Given the description of an element on the screen output the (x, y) to click on. 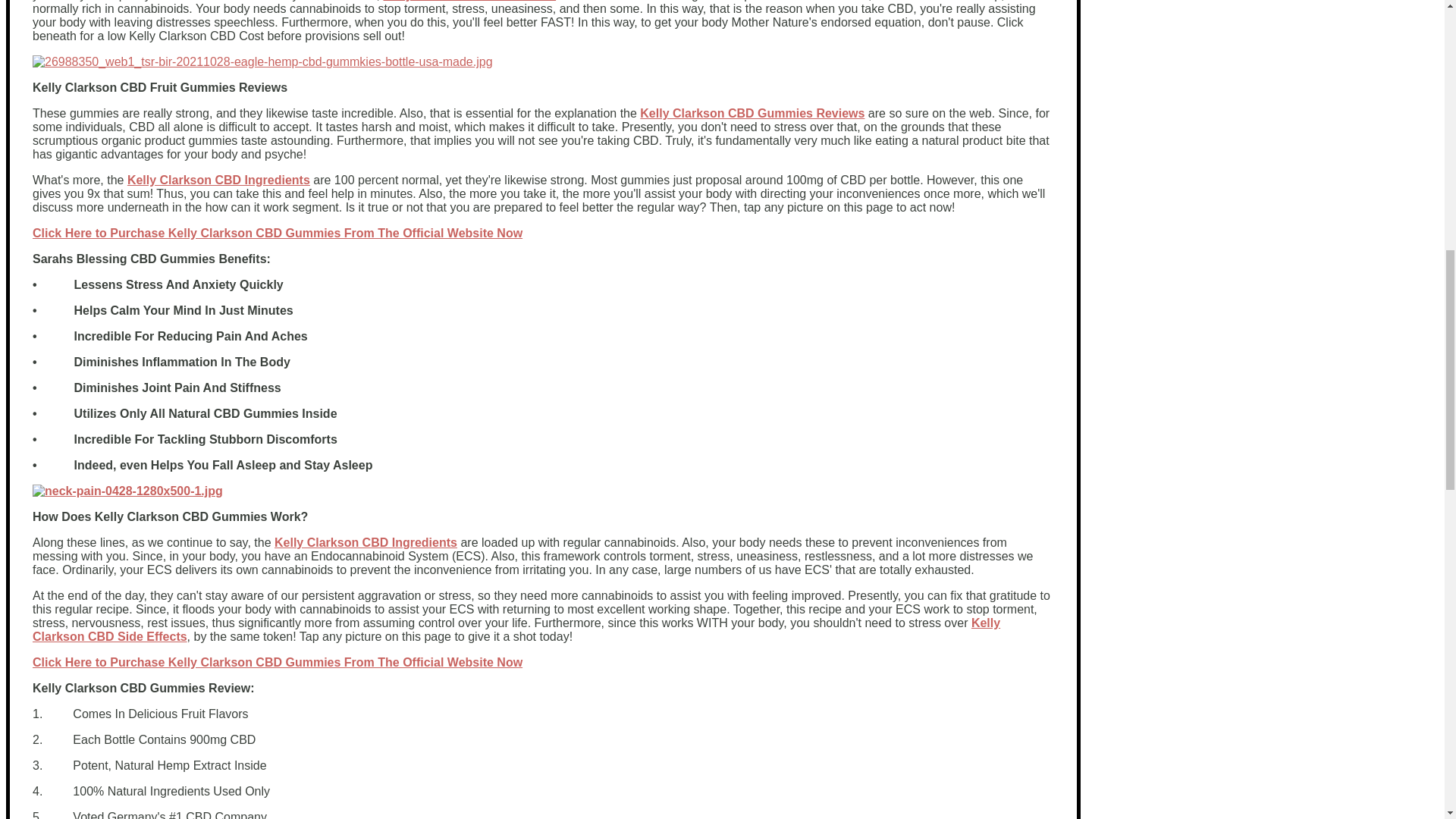
Kelly Clarkson CBD Ingredients (219, 179)
Kelly Clarkson CBD Ingredients (366, 542)
Kelly Clarkson CBD Gummies Reviews (752, 113)
Kelly Clarkson CBD Side Effects (516, 629)
